Given the description of an element on the screen output the (x, y) to click on. 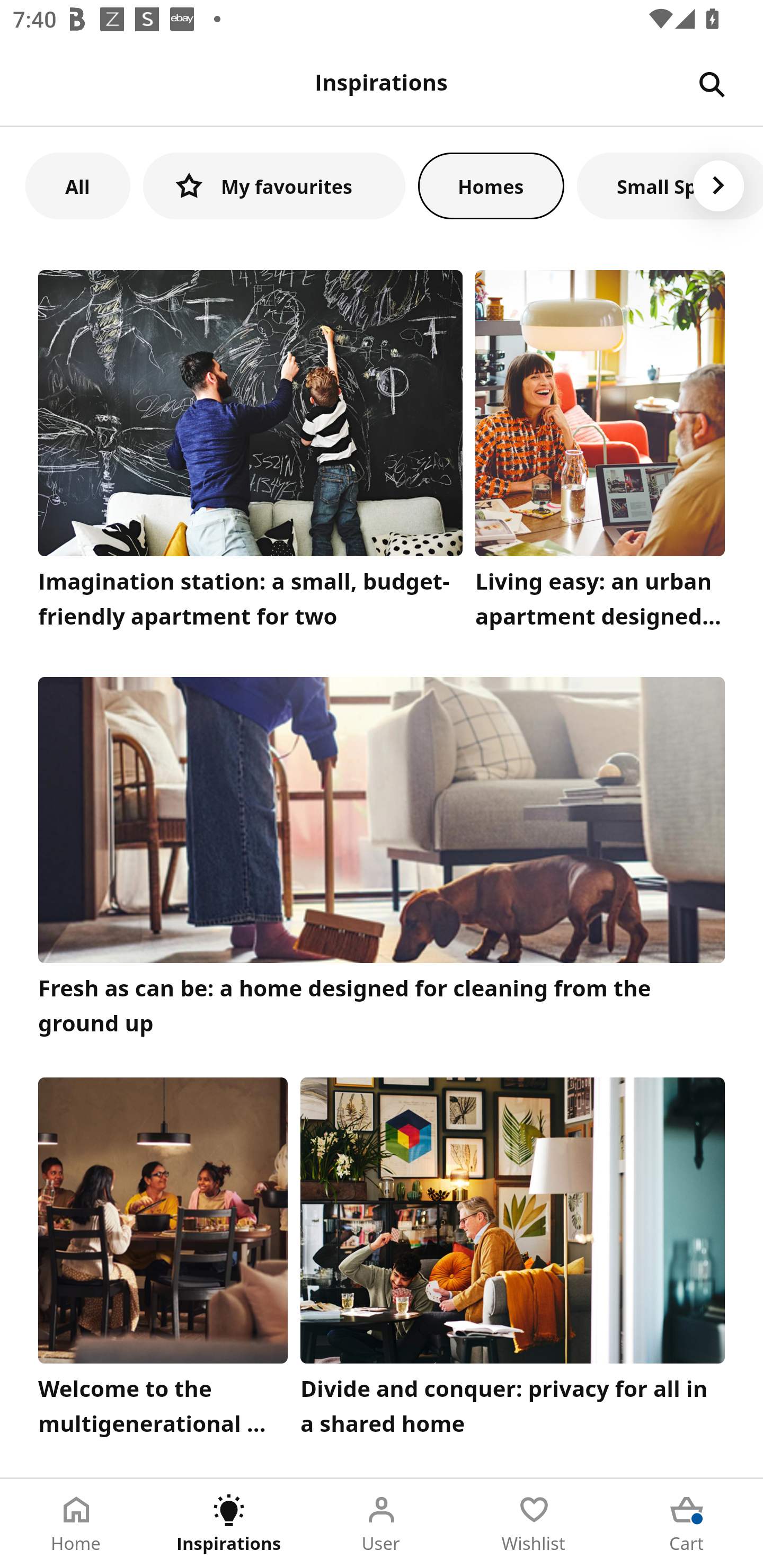
All (77, 185)
My favourites (274, 185)
Homes (491, 185)
Welcome to the multigenerational home (162, 1261)
Home
Tab 1 of 5 (76, 1522)
Inspirations
Tab 2 of 5 (228, 1522)
User
Tab 3 of 5 (381, 1522)
Wishlist
Tab 4 of 5 (533, 1522)
Cart
Tab 5 of 5 (686, 1522)
